Given the description of an element on the screen output the (x, y) to click on. 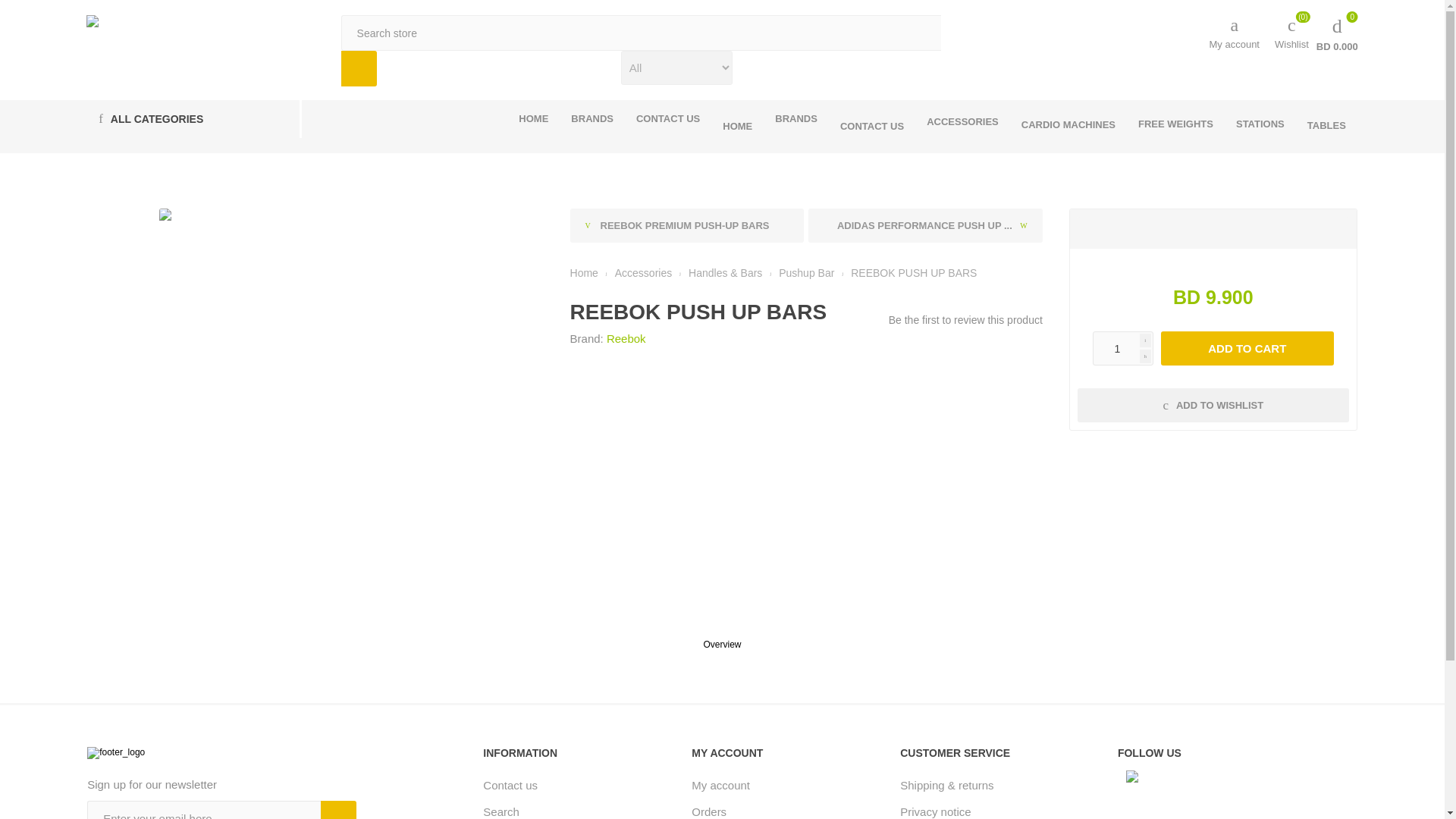
Brands (1337, 33)
Picture for category Nautilus (795, 118)
Picture for category Body Solid (736, 126)
BRANDS (358, 68)
Search (795, 118)
